Given the description of an element on the screen output the (x, y) to click on. 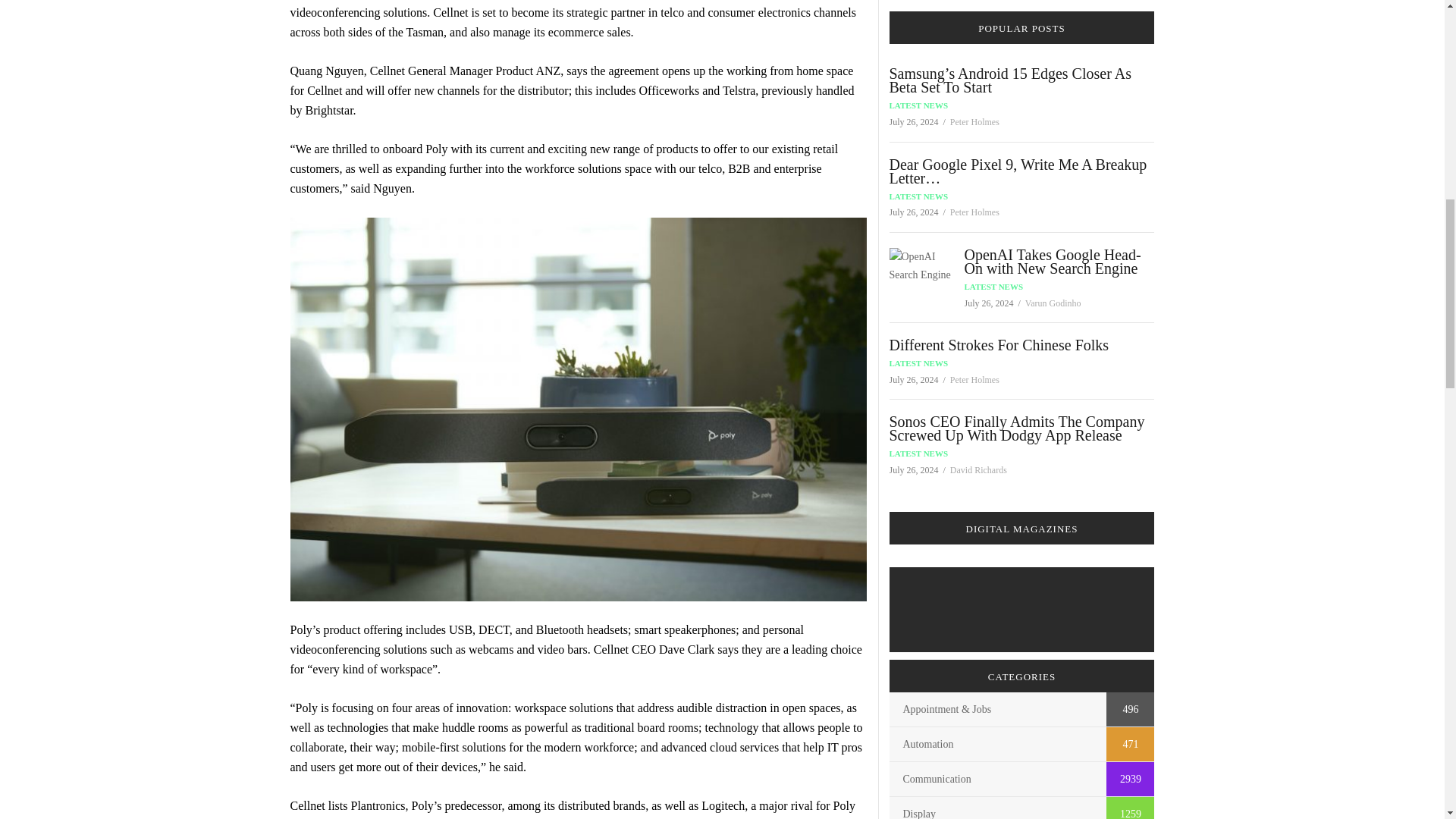
Posts by David Richards (978, 470)
Posts by Peter Holmes (974, 122)
Posts by Peter Holmes (974, 379)
Posts by Varun Godinho (1053, 303)
Posts by Peter Holmes (974, 212)
